Given the description of an element on the screen output the (x, y) to click on. 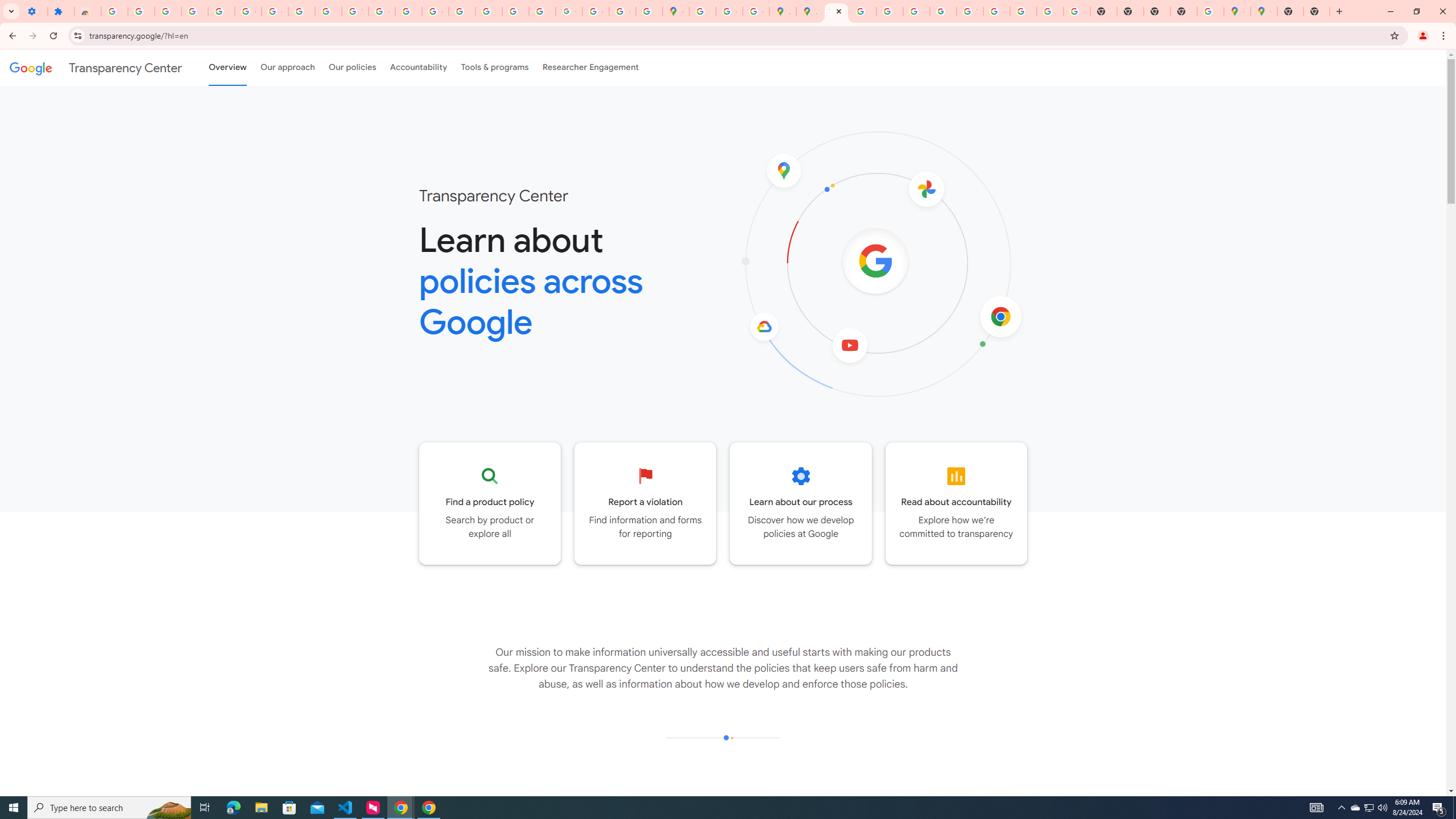
https://scholar.google.com/ (408, 11)
New Tab (1316, 11)
Extensions (61, 11)
Create your Google Account (729, 11)
Go to the Our process page (800, 503)
Tools & programs (494, 67)
Google Maps (676, 11)
